Given the description of an element on the screen output the (x, y) to click on. 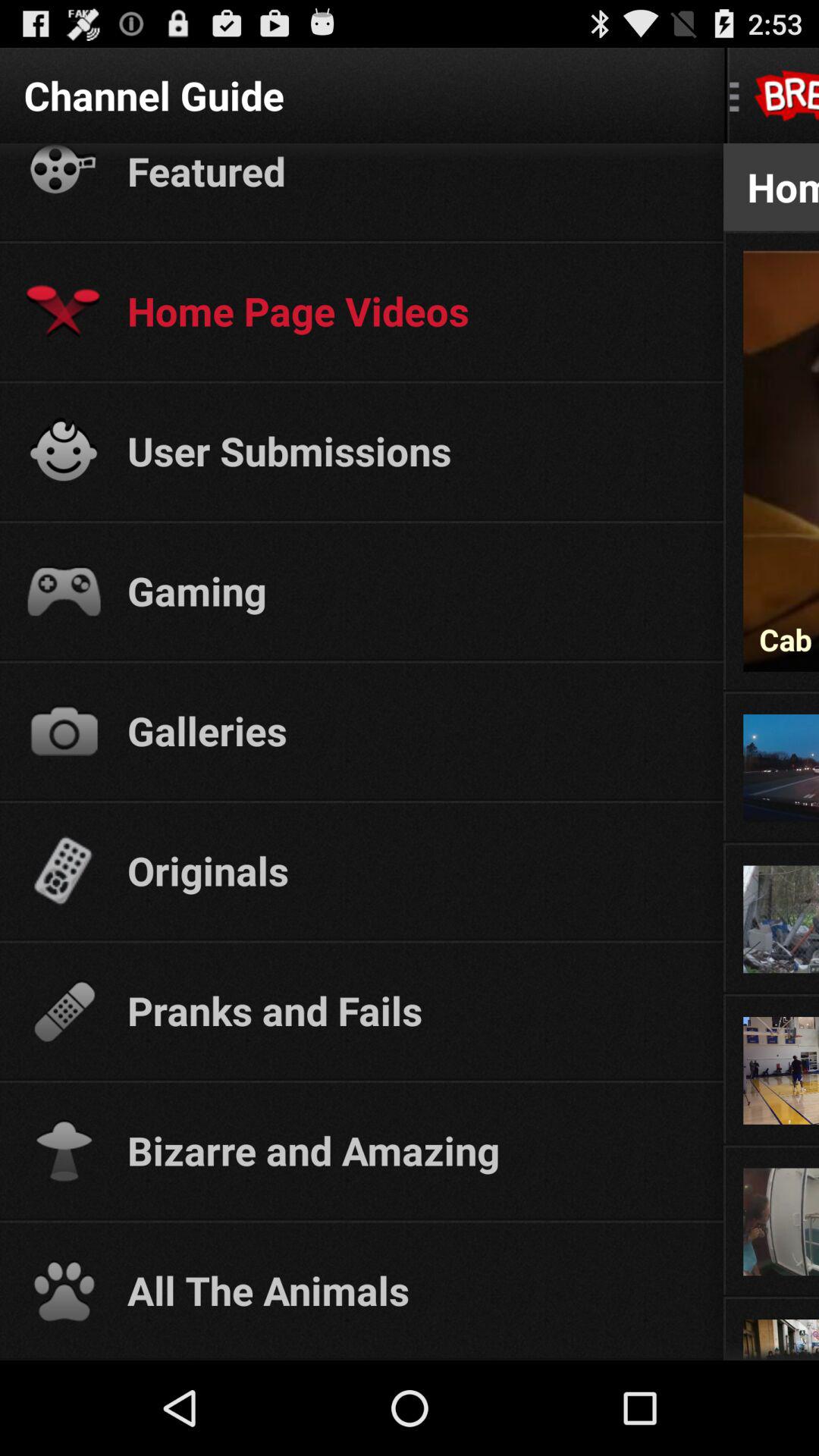
scroll to originals app (411, 870)
